Given the description of an element on the screen output the (x, y) to click on. 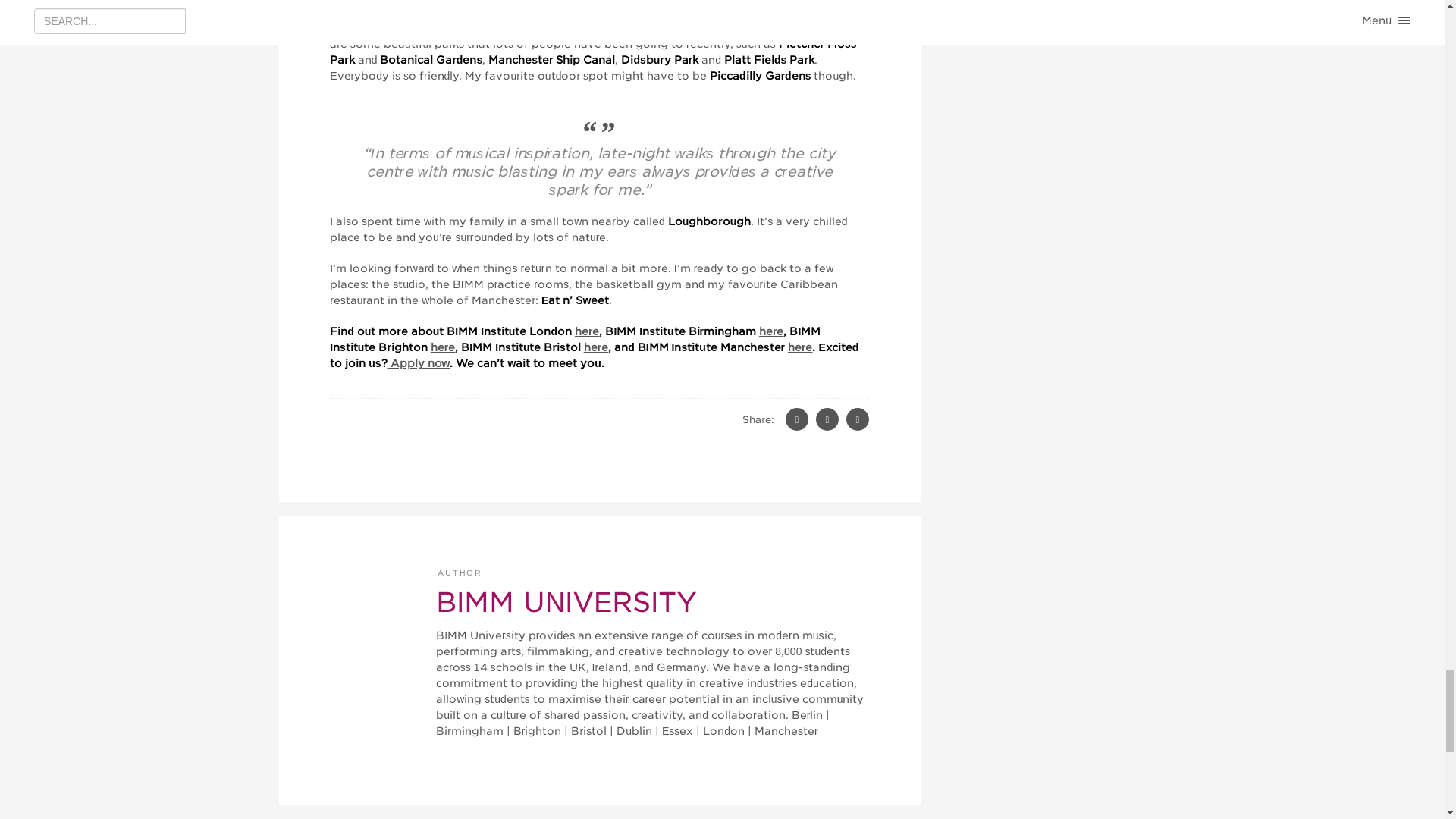
here (586, 331)
here (442, 346)
here (770, 331)
here (595, 346)
Apply now (418, 363)
here (799, 346)
